Given the description of an element on the screen output the (x, y) to click on. 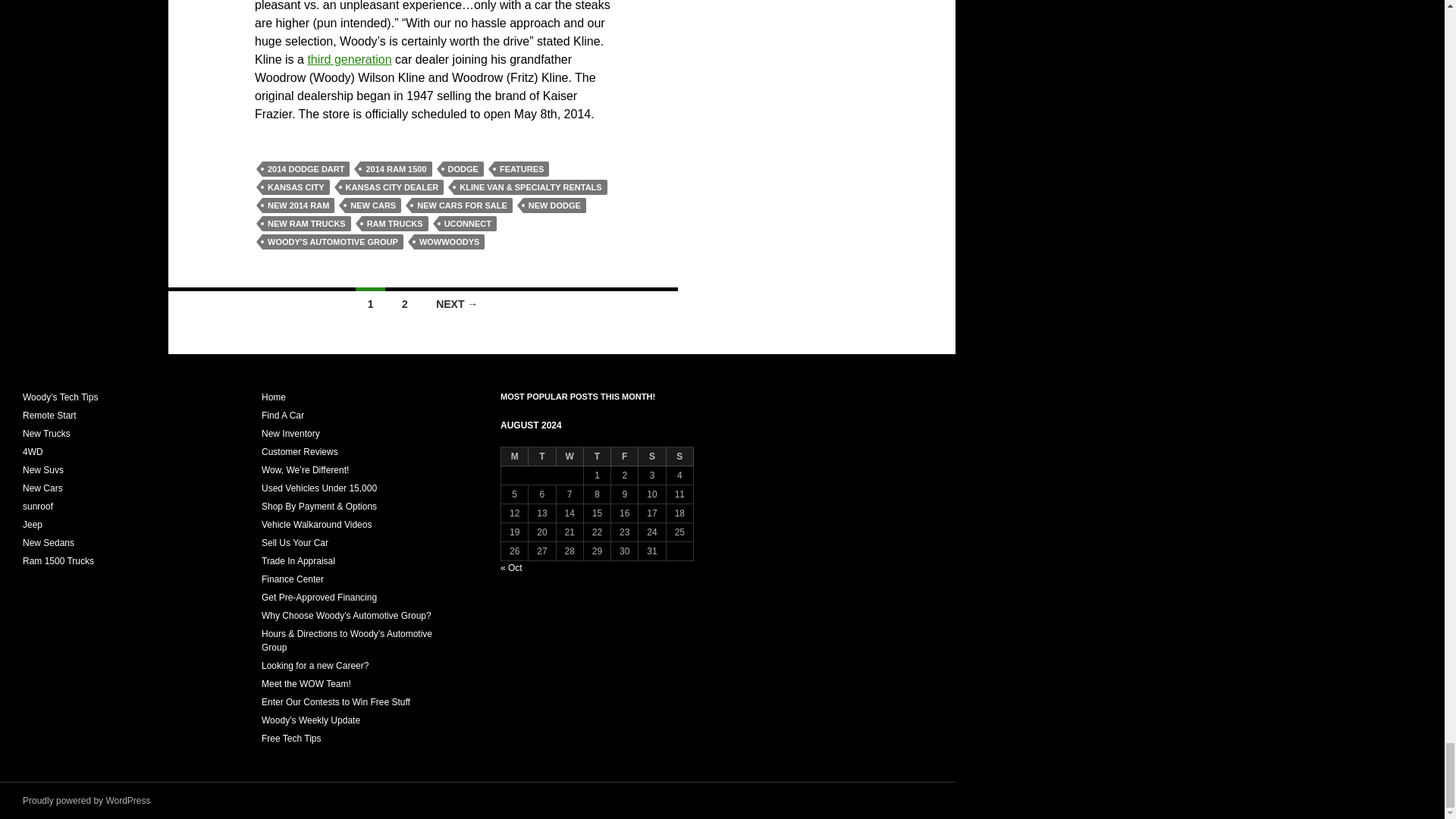
Sunday (680, 456)
Thursday (597, 456)
Visit WowWoodys.com (273, 397)
Saturday (652, 456)
Tuesday (542, 456)
Looking for a new Career? (315, 665)
Find A Car For Sale (283, 415)
Wednesday (569, 456)
Friday (625, 456)
Monday (514, 456)
